Given the description of an element on the screen output the (x, y) to click on. 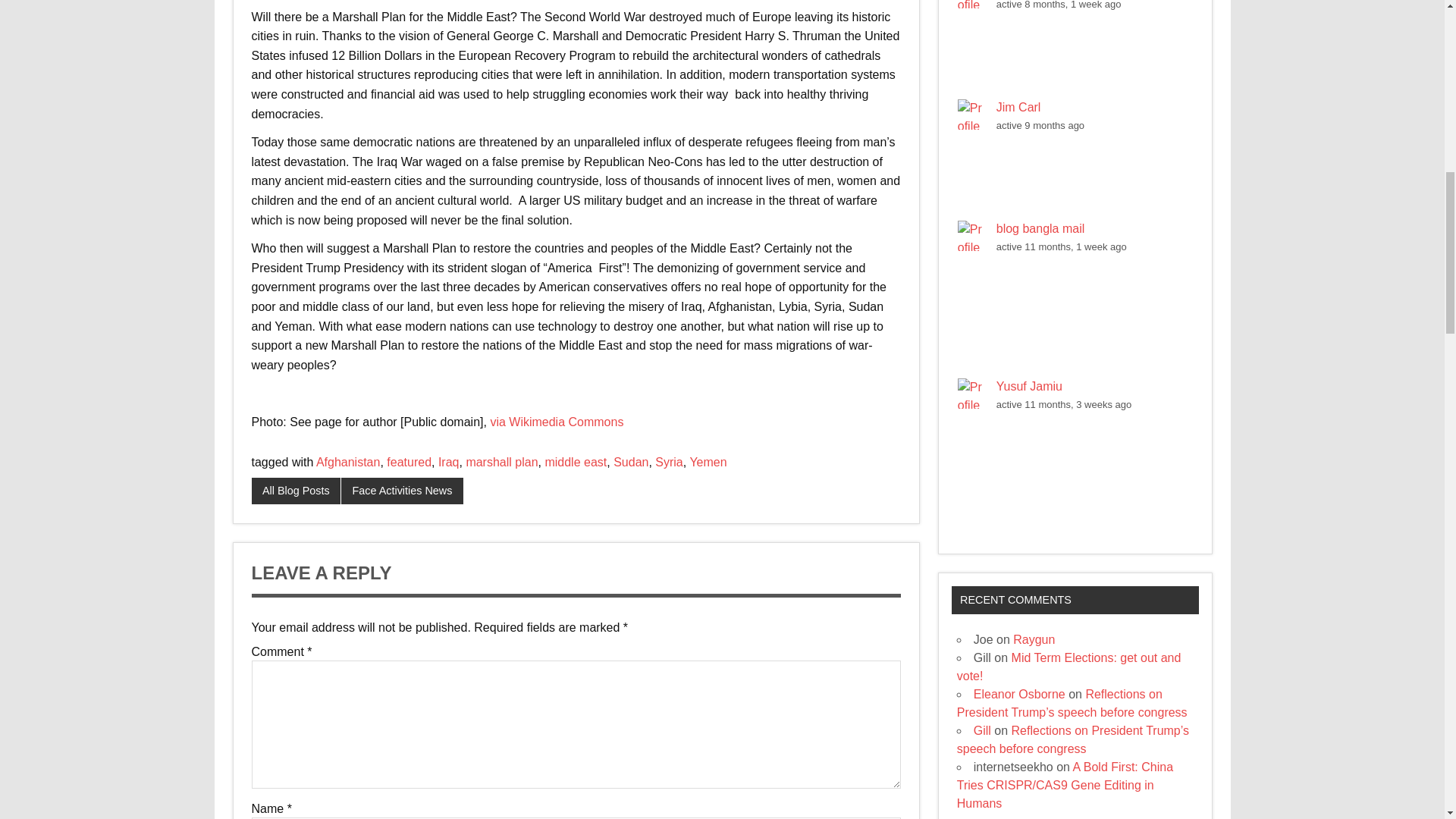
Yemen (707, 461)
Syria (668, 461)
Sudan (629, 461)
Iraq (449, 461)
Face Activities News (401, 491)
Afghanistan (347, 461)
featured (408, 461)
via Wikimedia Commons (556, 421)
marshall plan (501, 461)
All Blog Posts (295, 491)
middle east (575, 461)
